Given the description of an element on the screen output the (x, y) to click on. 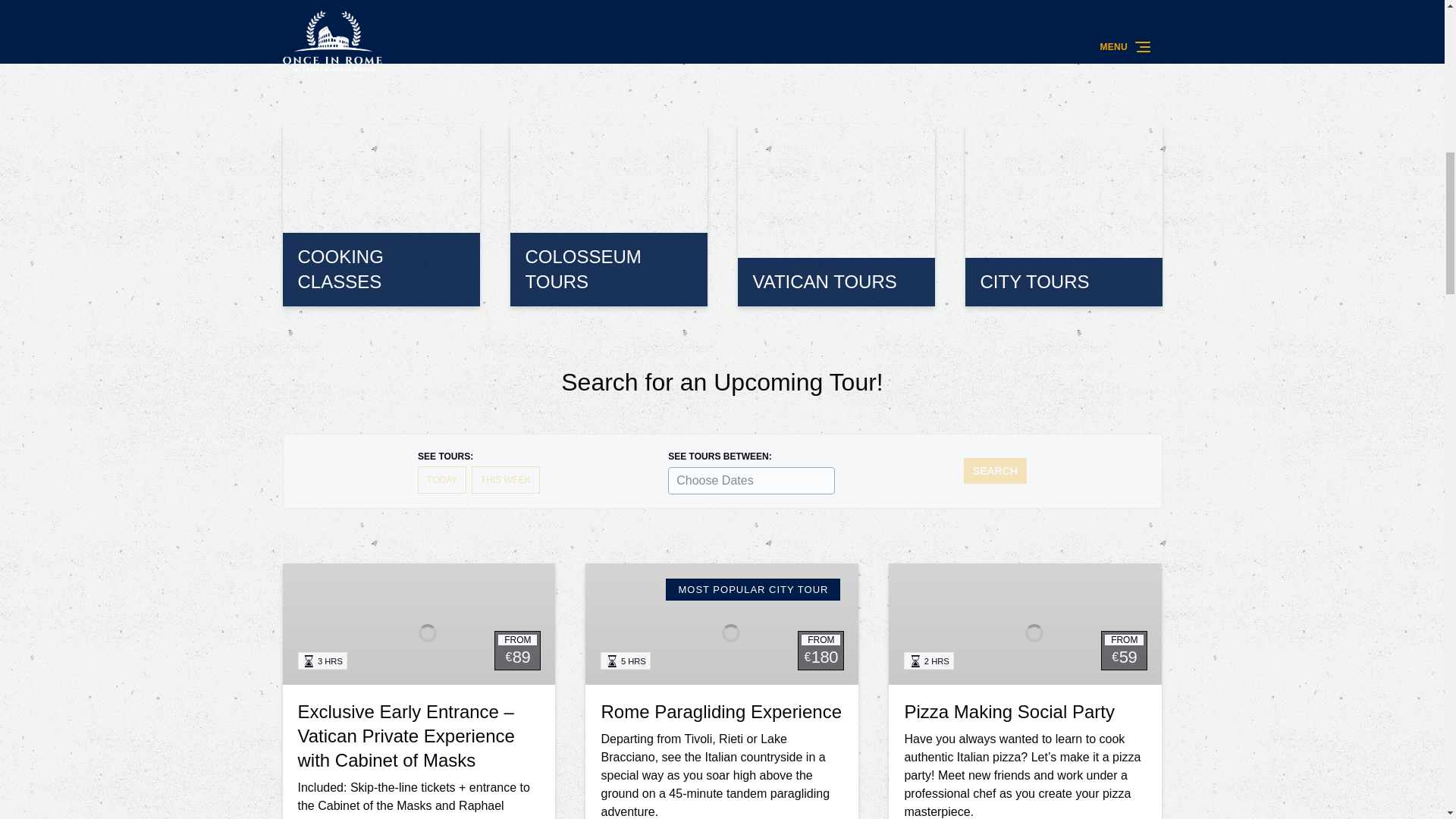
Today (441, 479)
COLOSSEUM TOURS (607, 215)
Rome Paragliding Experience (720, 711)
This Week (505, 479)
Search (994, 470)
CITY TOURS (1062, 215)
Today (441, 479)
Search (994, 470)
COOKING CLASSES (380, 215)
This Week (505, 479)
